Given the description of an element on the screen output the (x, y) to click on. 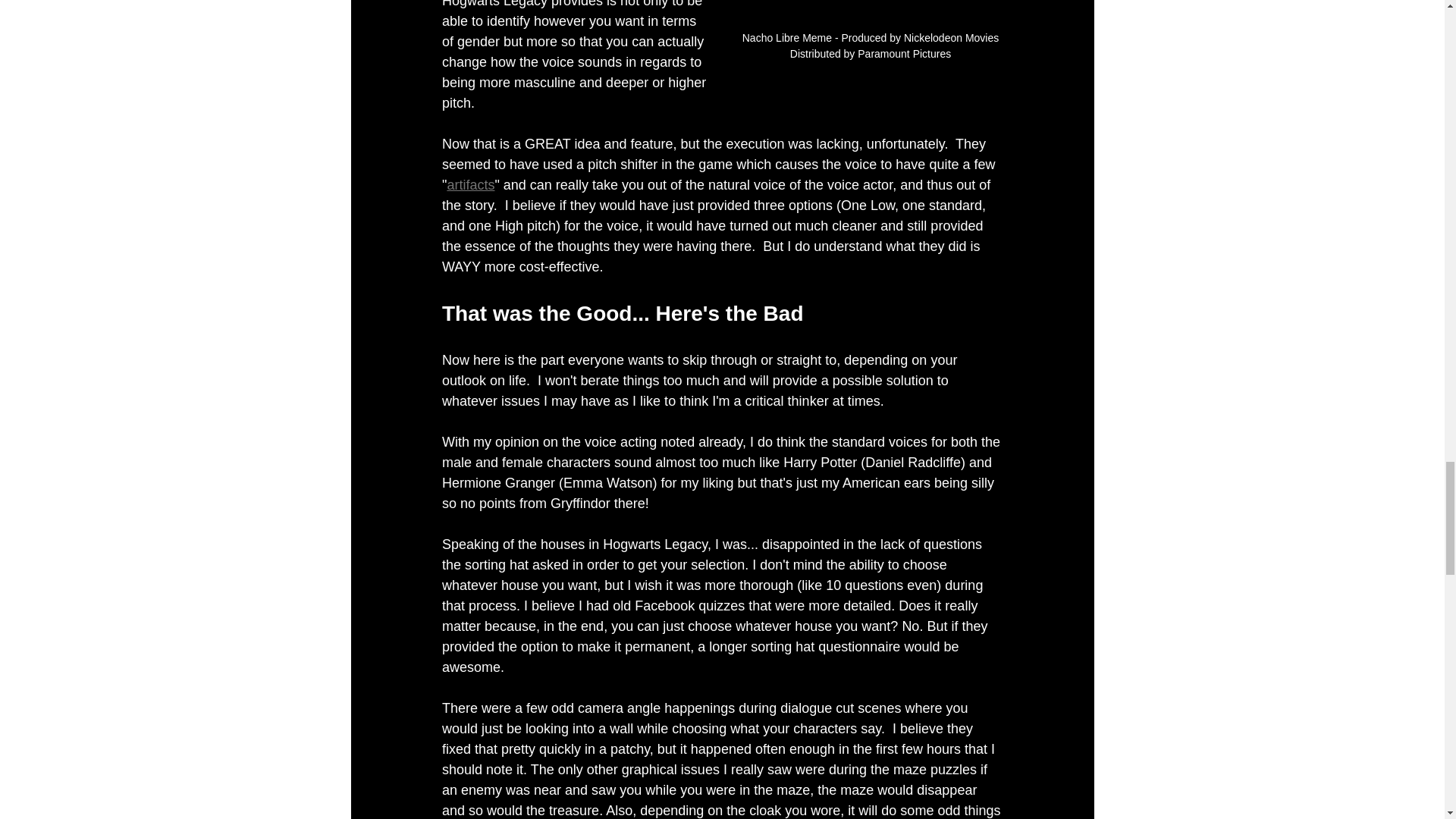
artifacts (470, 184)
